Given the description of an element on the screen output the (x, y) to click on. 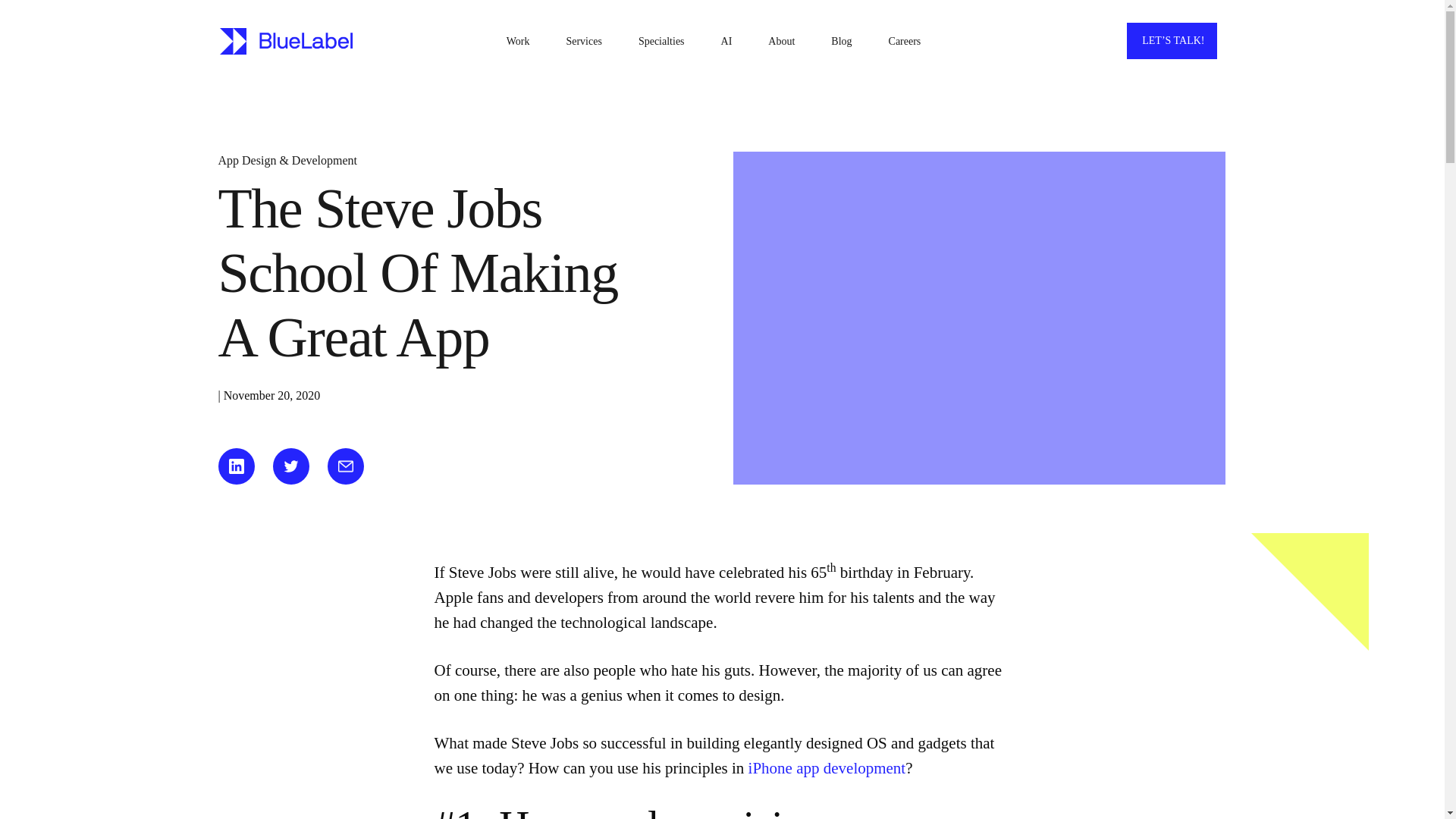
About (781, 41)
Work (517, 41)
Careers (904, 41)
iPhone app development (826, 768)
Specialties (661, 41)
BlueLabel, a digital transformation agency (286, 40)
Services (583, 41)
Blog (841, 41)
